Given the description of an element on the screen output the (x, y) to click on. 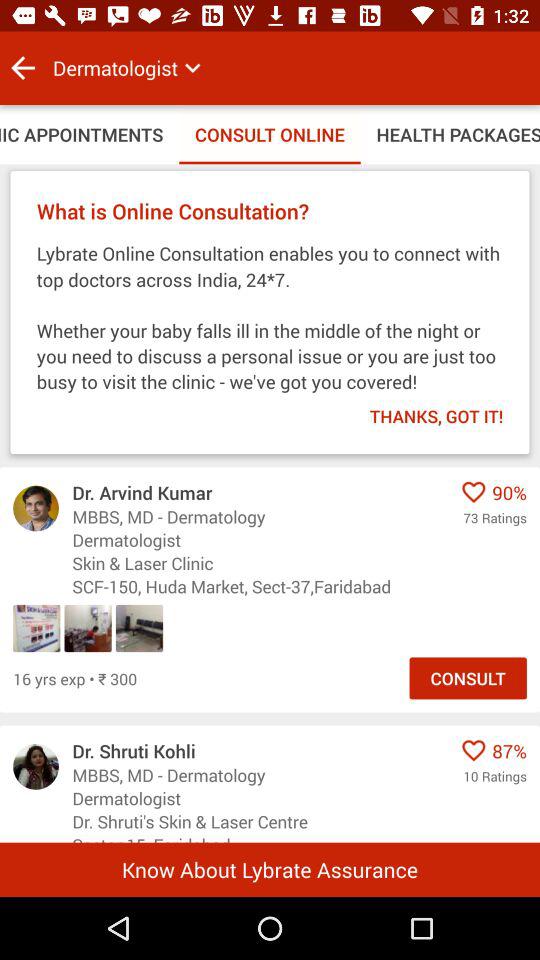
scroll until the thanks, got it! item (423, 410)
